Given the description of an element on the screen output the (x, y) to click on. 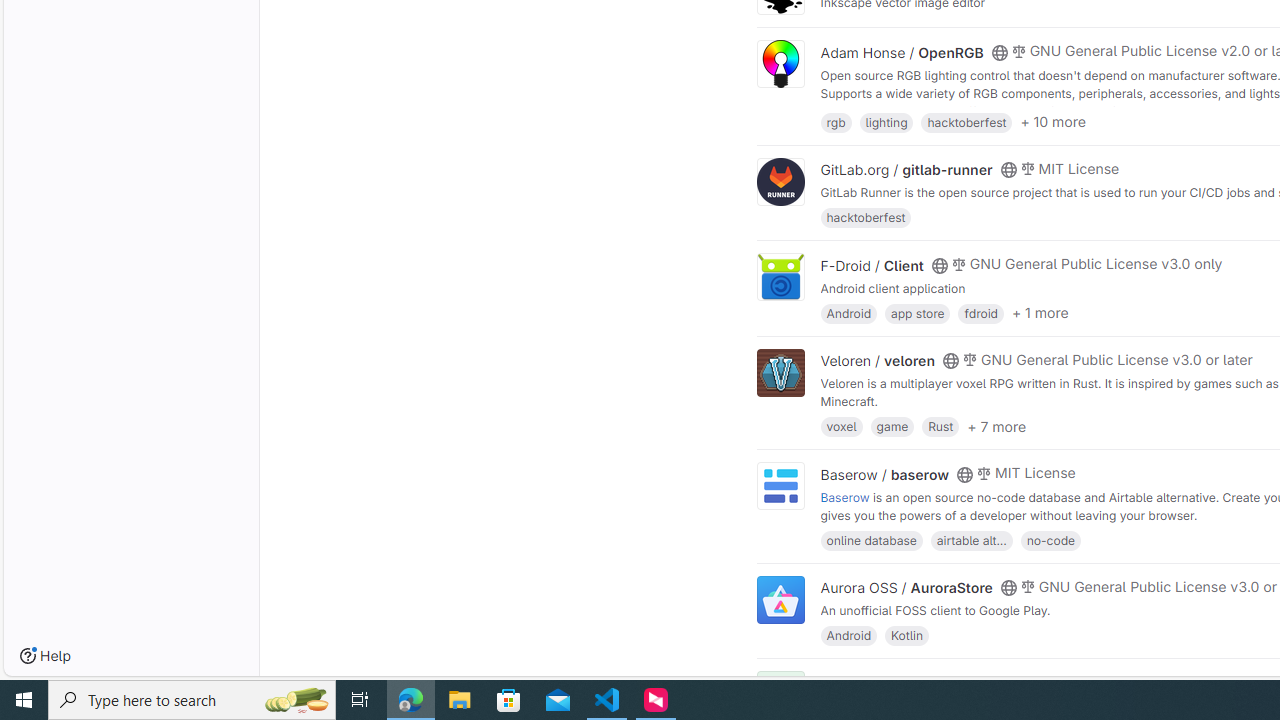
app store (917, 312)
Class: s14 gl-mr-2 (1018, 681)
F (780, 695)
Veloren / veloren (877, 361)
Class: s16 (999, 683)
Edouard Klein / falsisign (902, 682)
Aurora OSS / AuroraStore (906, 587)
+ 1 more (1039, 313)
Adam Honse / OpenRGB (902, 52)
fdroid (980, 312)
rgb (836, 120)
+ 10 more (1053, 121)
Android (848, 634)
airtable alt... (971, 539)
